Given the description of an element on the screen output the (x, y) to click on. 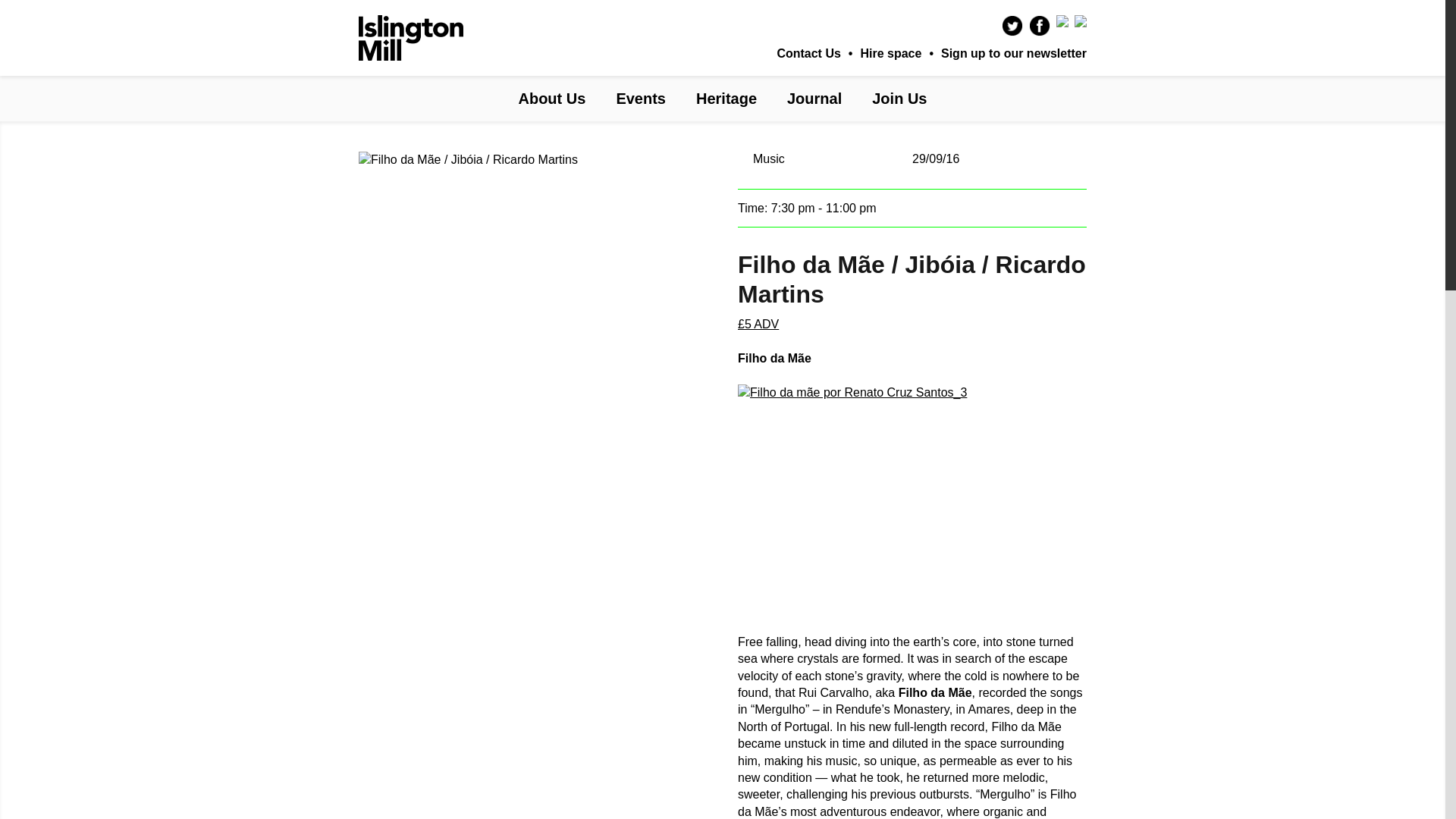
Facebook (1039, 25)
Journal (814, 98)
Join Us (899, 98)
Page 1 (912, 726)
Hire space (890, 53)
Music (768, 158)
Islington Mill (410, 37)
About Us (551, 98)
Heritage (726, 98)
Events (640, 98)
